Given the description of an element on the screen output the (x, y) to click on. 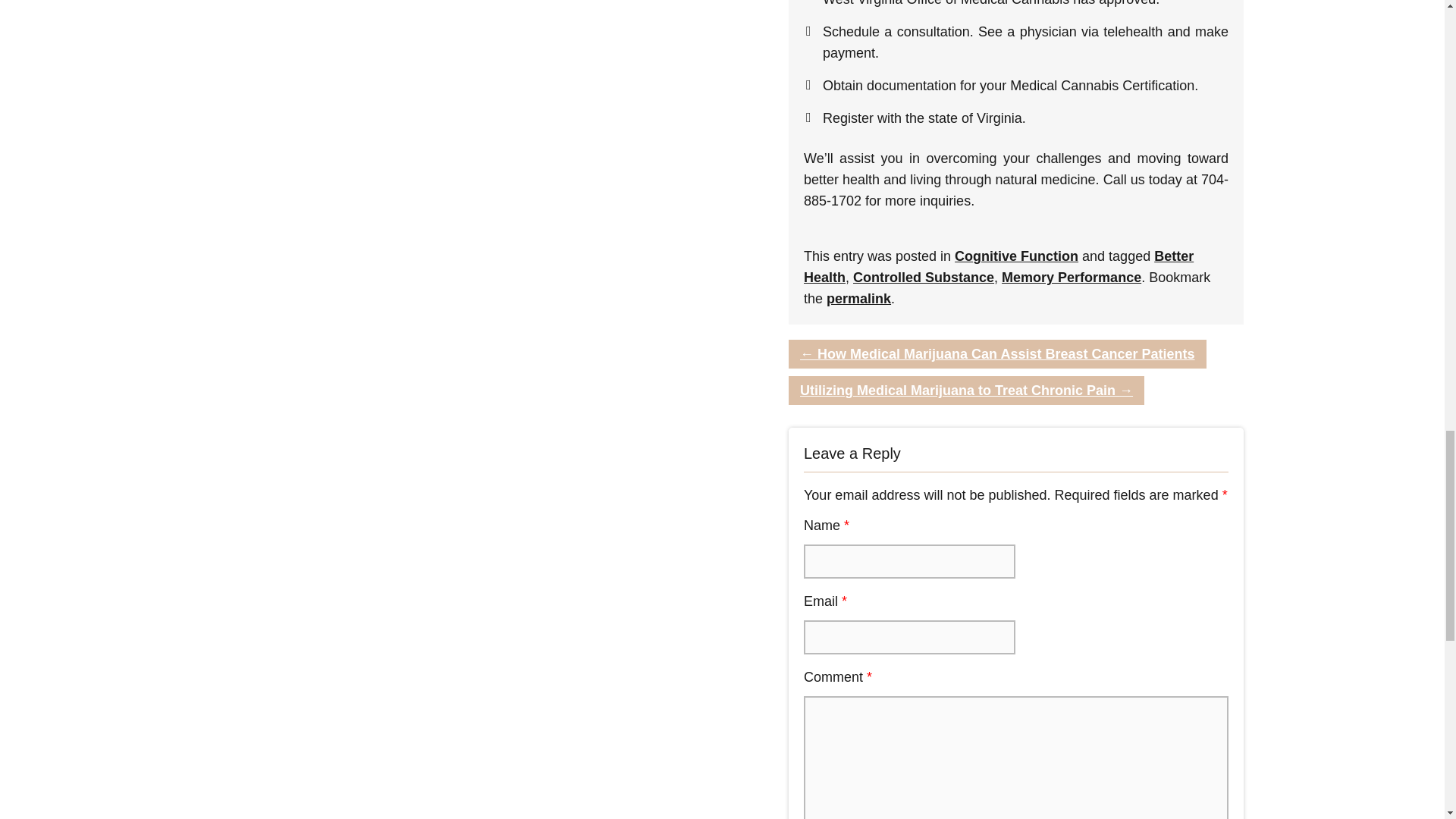
Cognitive Function (1016, 255)
permalink (859, 298)
Controlled Substance (923, 277)
Memory Performance (1071, 277)
704-885-1702 (1015, 189)
Better Health (998, 266)
